Given the description of an element on the screen output the (x, y) to click on. 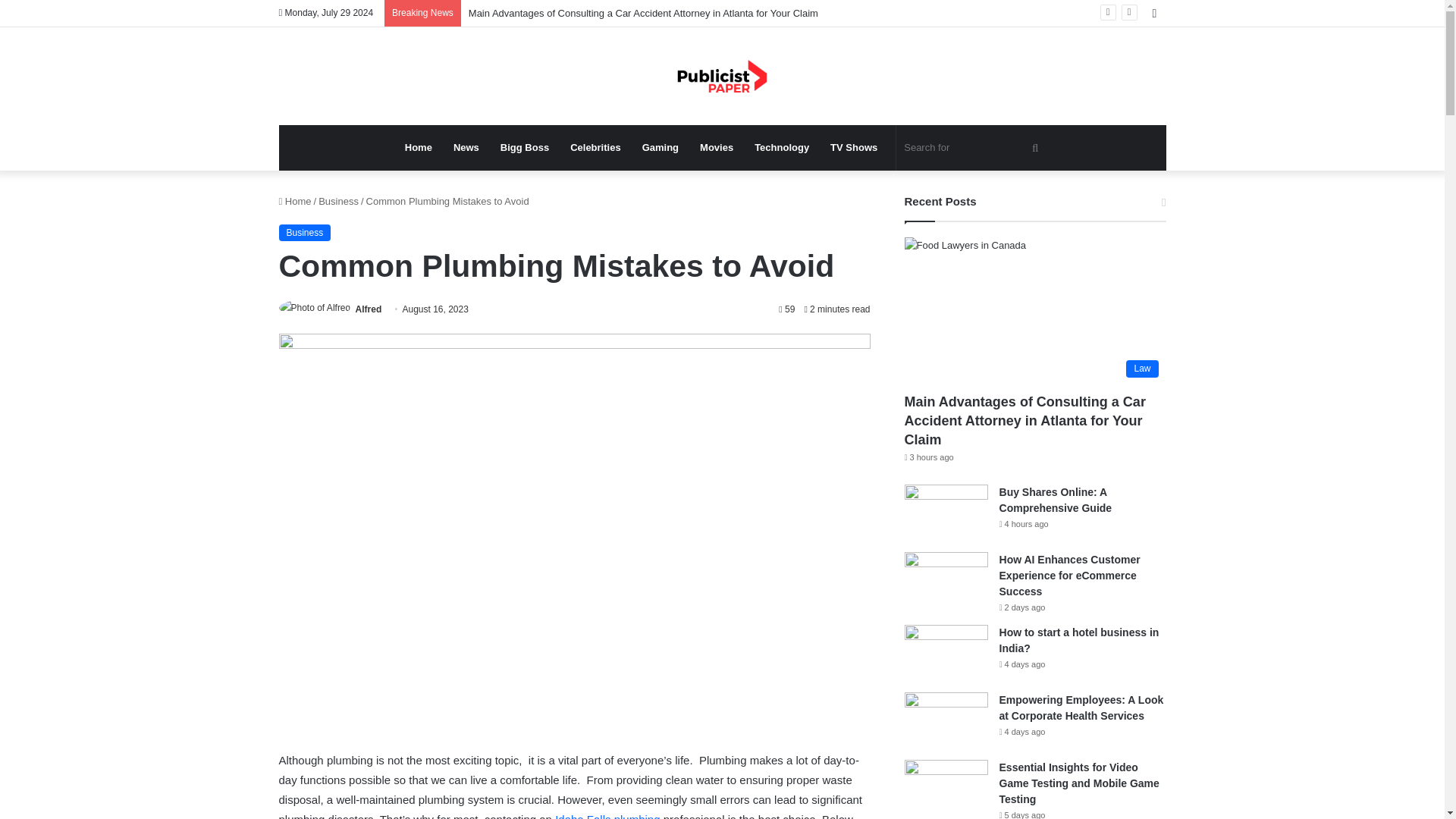
Movies (716, 147)
Business (305, 232)
TV Shows (853, 147)
Business (338, 201)
Publicist Paper (721, 76)
Idaho Falls plumbing (606, 816)
Alfred (368, 308)
Search for (972, 147)
Celebrities (594, 147)
Bigg Boss (524, 147)
Home (418, 147)
Alfred (368, 308)
Home (295, 201)
News (465, 147)
Gaming (659, 147)
